Given the description of an element on the screen output the (x, y) to click on. 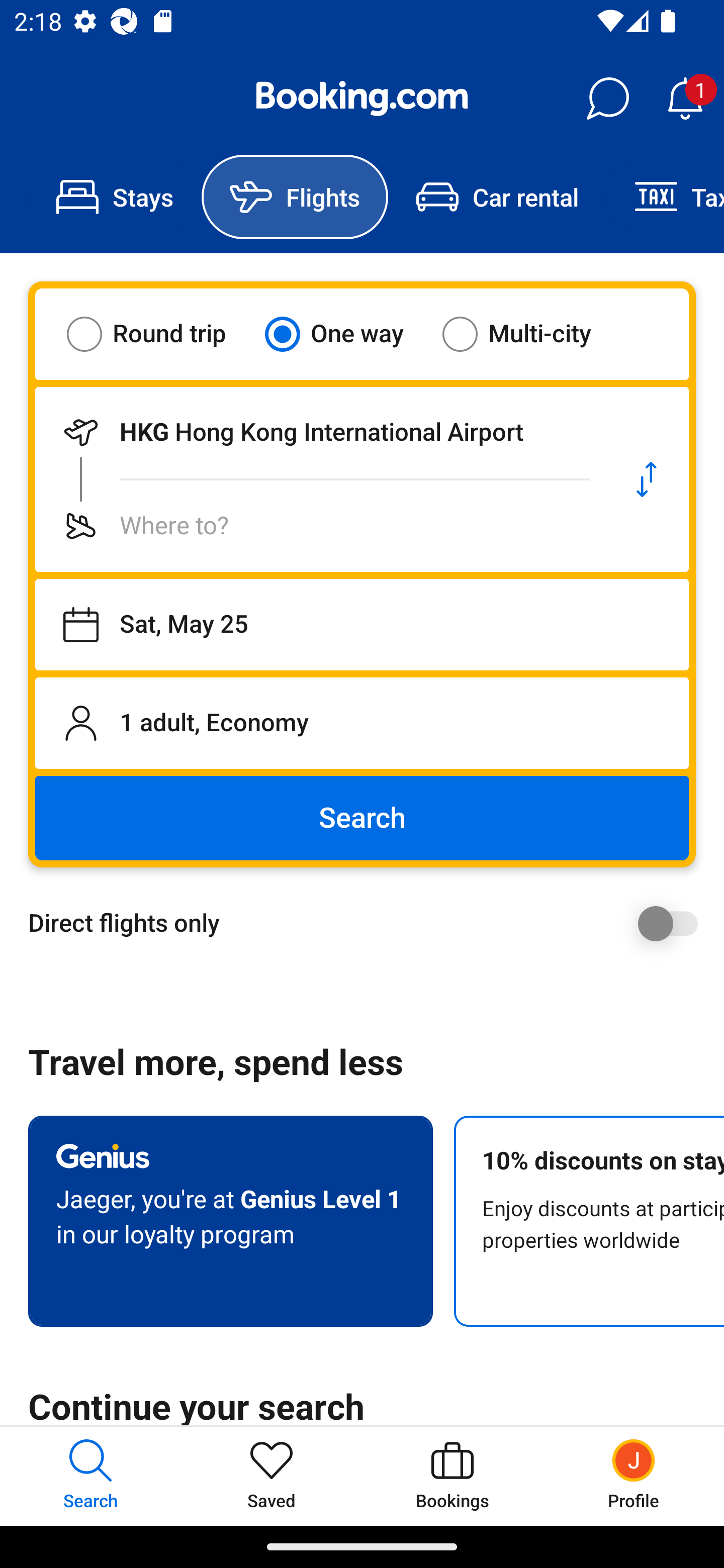
Messages (607, 98)
Notifications (685, 98)
Stays (114, 197)
Flights (294, 197)
Car rental (497, 197)
Taxi (665, 197)
Round trip (158, 333)
Multi-city (528, 333)
Departing from HKG Hong Kong International Airport (319, 432)
Swap departure location and destination (646, 479)
Flying to  (319, 525)
Departing on Sat, May 25 (361, 624)
1 adult, Economy (361, 722)
Search (361, 818)
Direct flights only (369, 923)
Saved (271, 1475)
Bookings (452, 1475)
Profile (633, 1475)
